Given the description of an element on the screen output the (x, y) to click on. 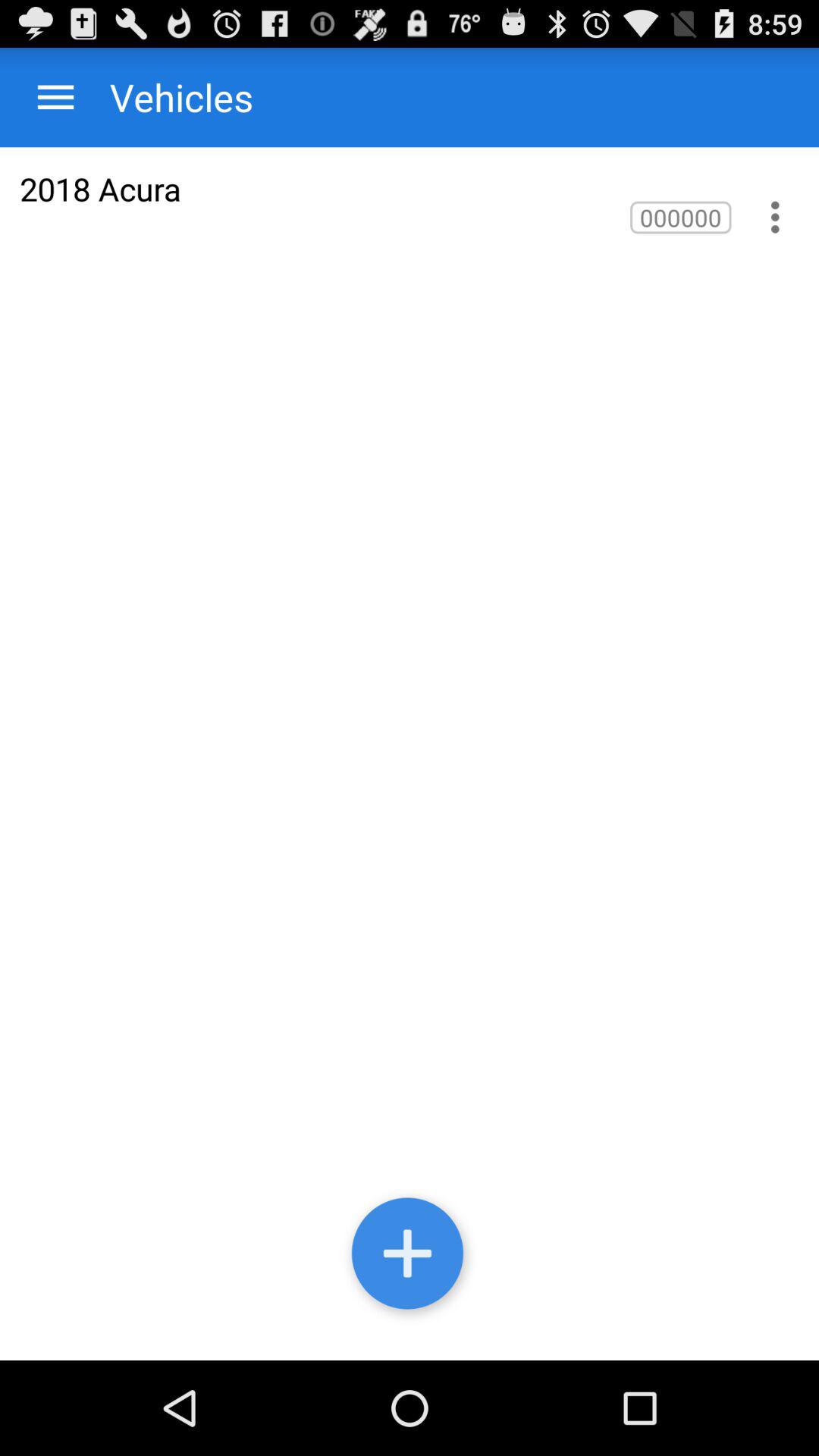
tap the icon below vehicles (99, 188)
